Given the description of an element on the screen output the (x, y) to click on. 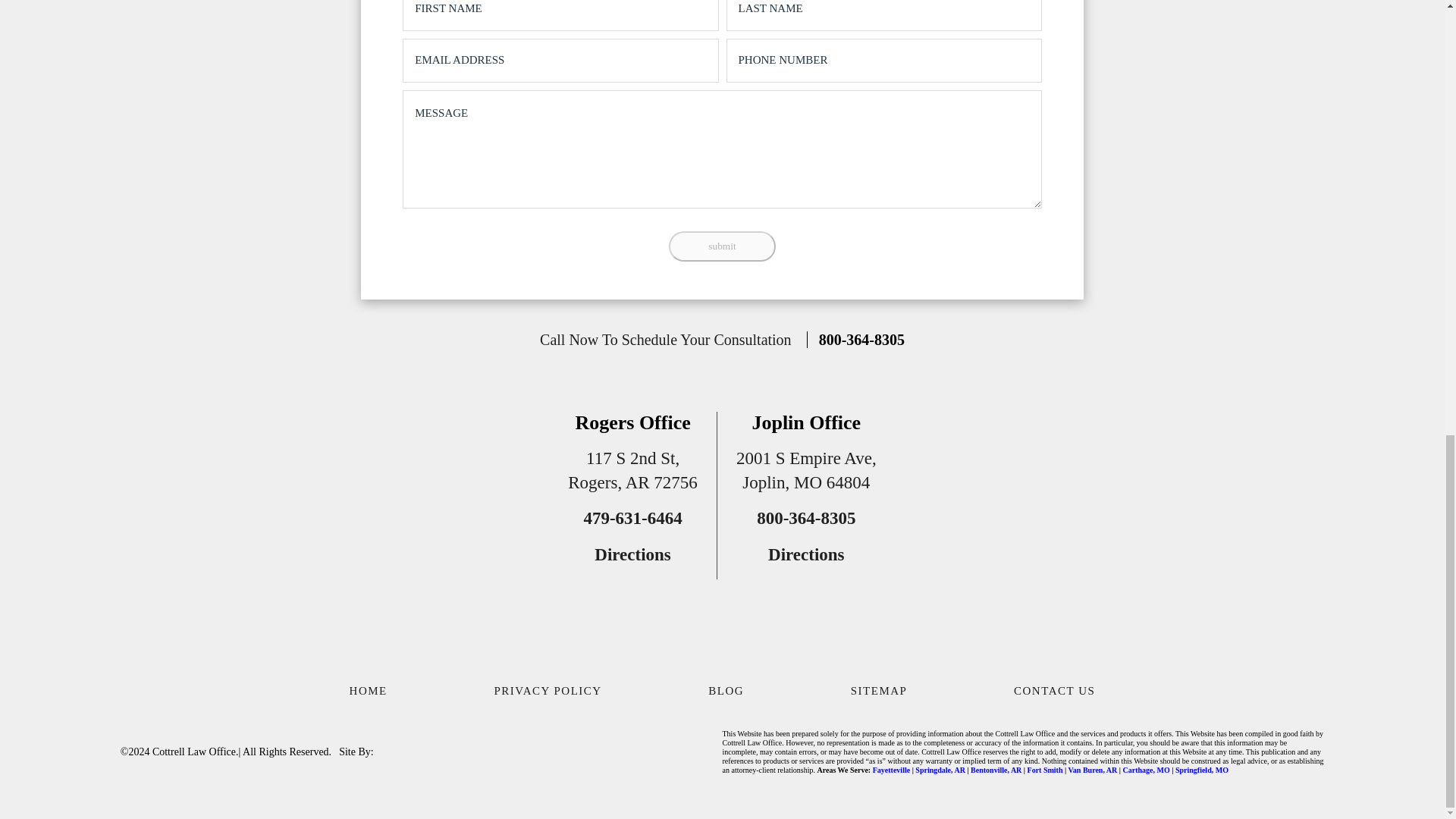
Call Cottrell Law Office (855, 339)
Site by Juris Digital Law Firm Marketing (434, 751)
